Given the description of an element on the screen output the (x, y) to click on. 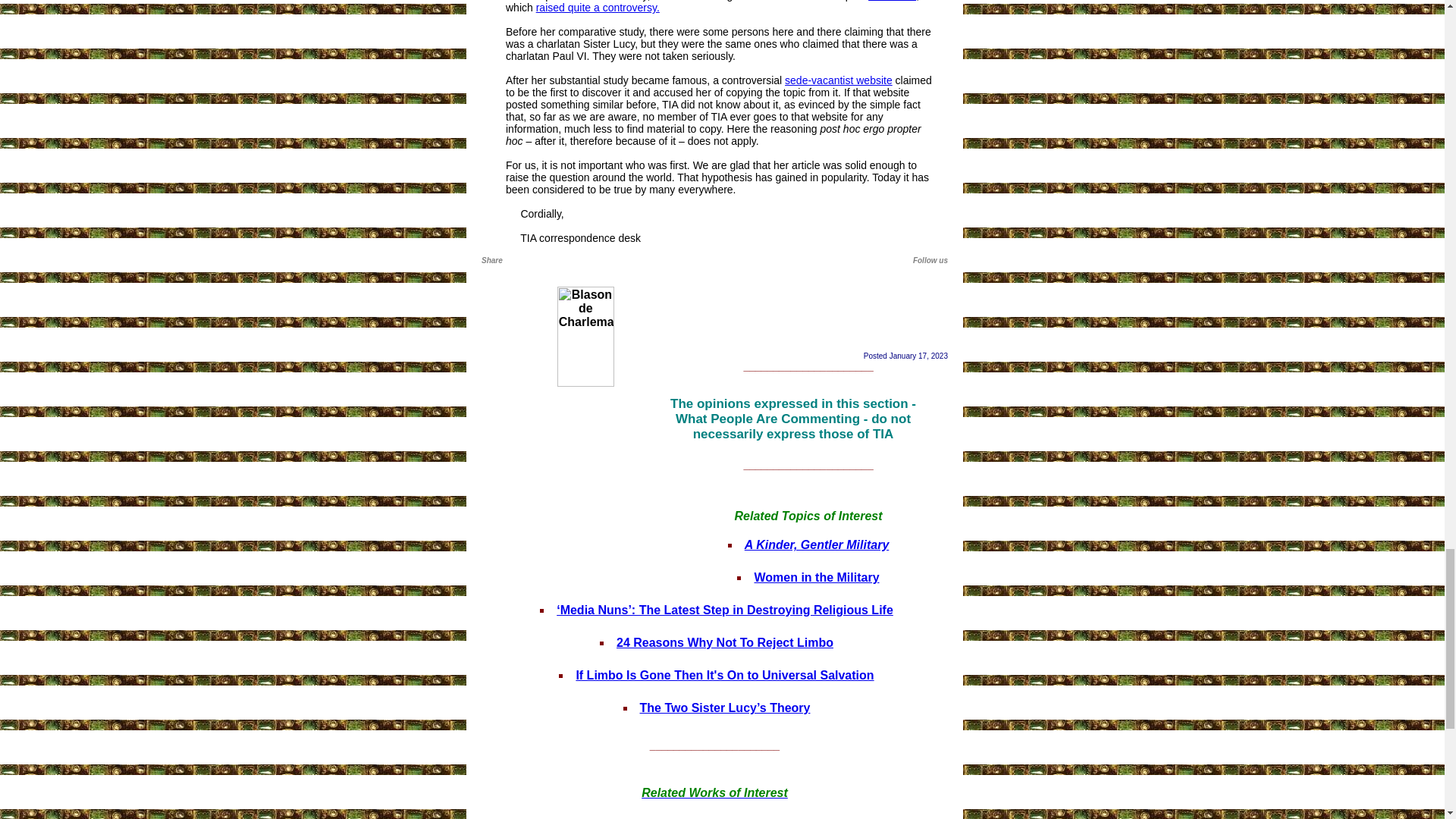
raised quite a controversy. (597, 7)
Women in the Military (816, 576)
this article (891, 0)
24 Reasons Why Not To Reject Limbo (723, 642)
A Kinder, Gentler Military (816, 544)
sede-vacantist website (838, 80)
